Given the description of an element on the screen output the (x, y) to click on. 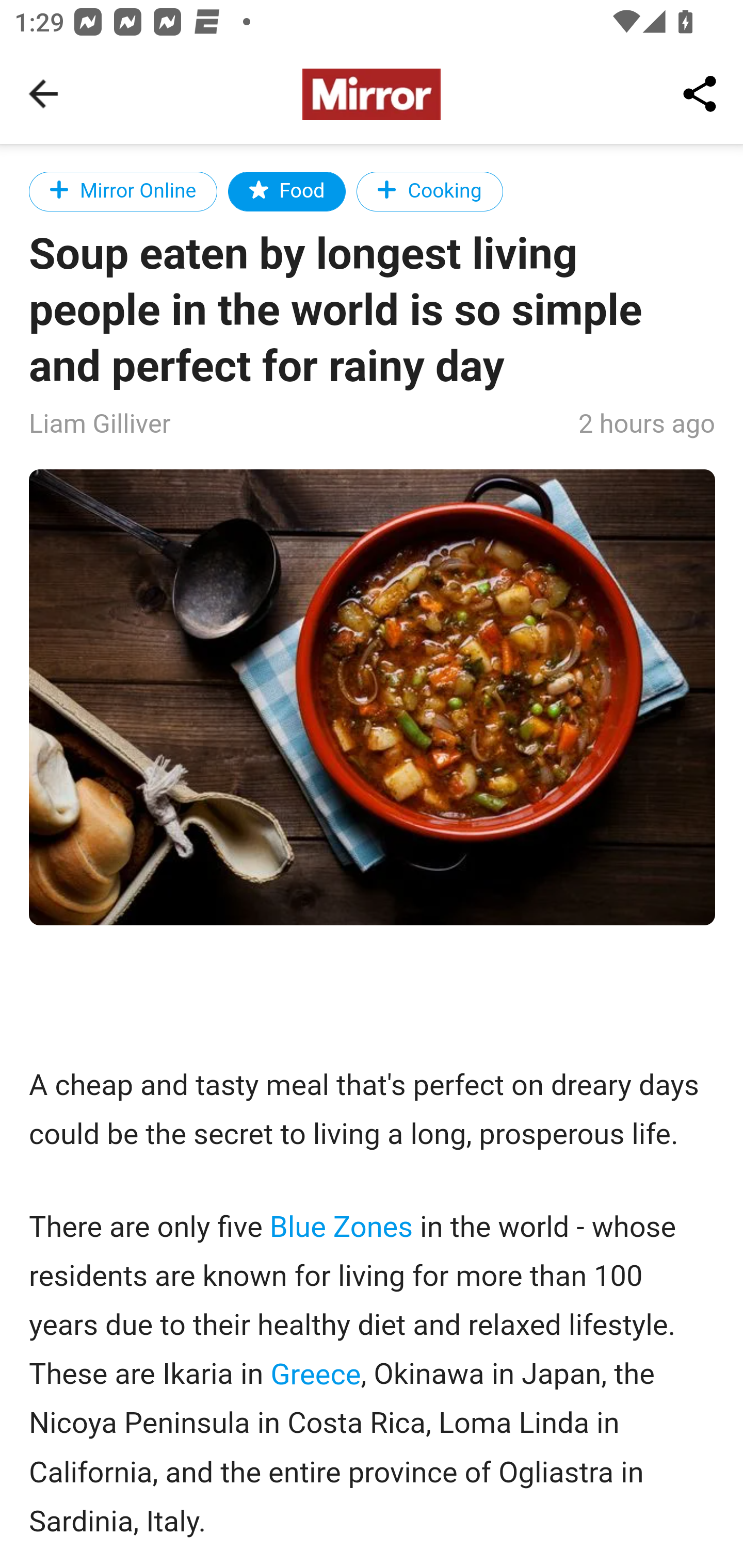
Mirror Online (123, 191)
Food (286, 191)
Cooking (429, 191)
Blue Zones (340, 1227)
Greece (315, 1373)
